Given the description of an element on the screen output the (x, y) to click on. 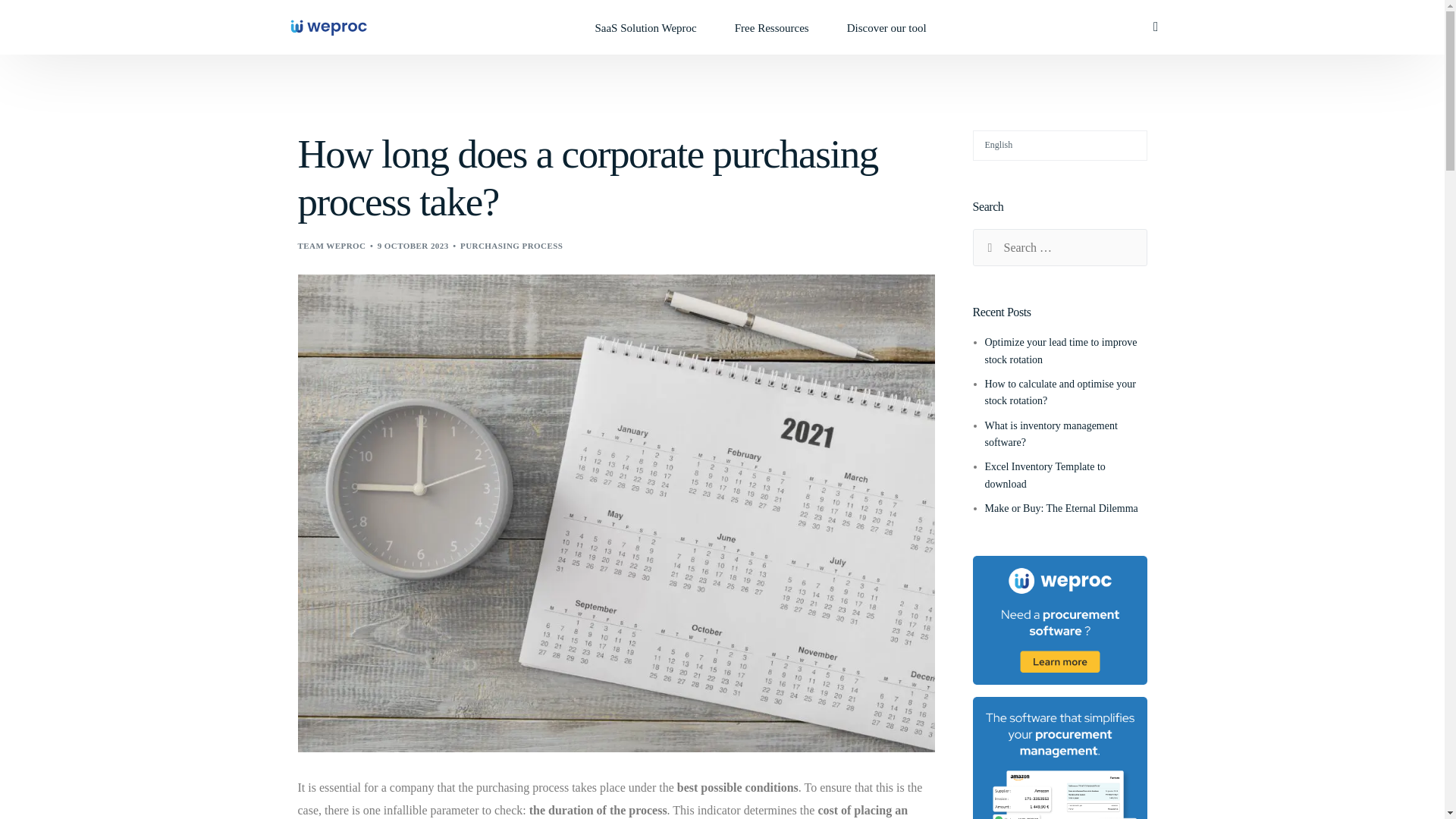
Posts by Team Weproc (331, 245)
SaaS Solution Weproc (644, 27)
Make or Buy: The Eternal Dilemma (1060, 508)
Free Ressources (772, 27)
What is inventory management software? (1050, 433)
Excel Inventory Template to download (1044, 474)
How to calculate and optimise your stock rotation? (1059, 392)
Discover our tool (886, 27)
TEAM WEPROC (331, 245)
Optimize your lead time to improve stock rotation (1060, 350)
